Given the description of an element on the screen output the (x, y) to click on. 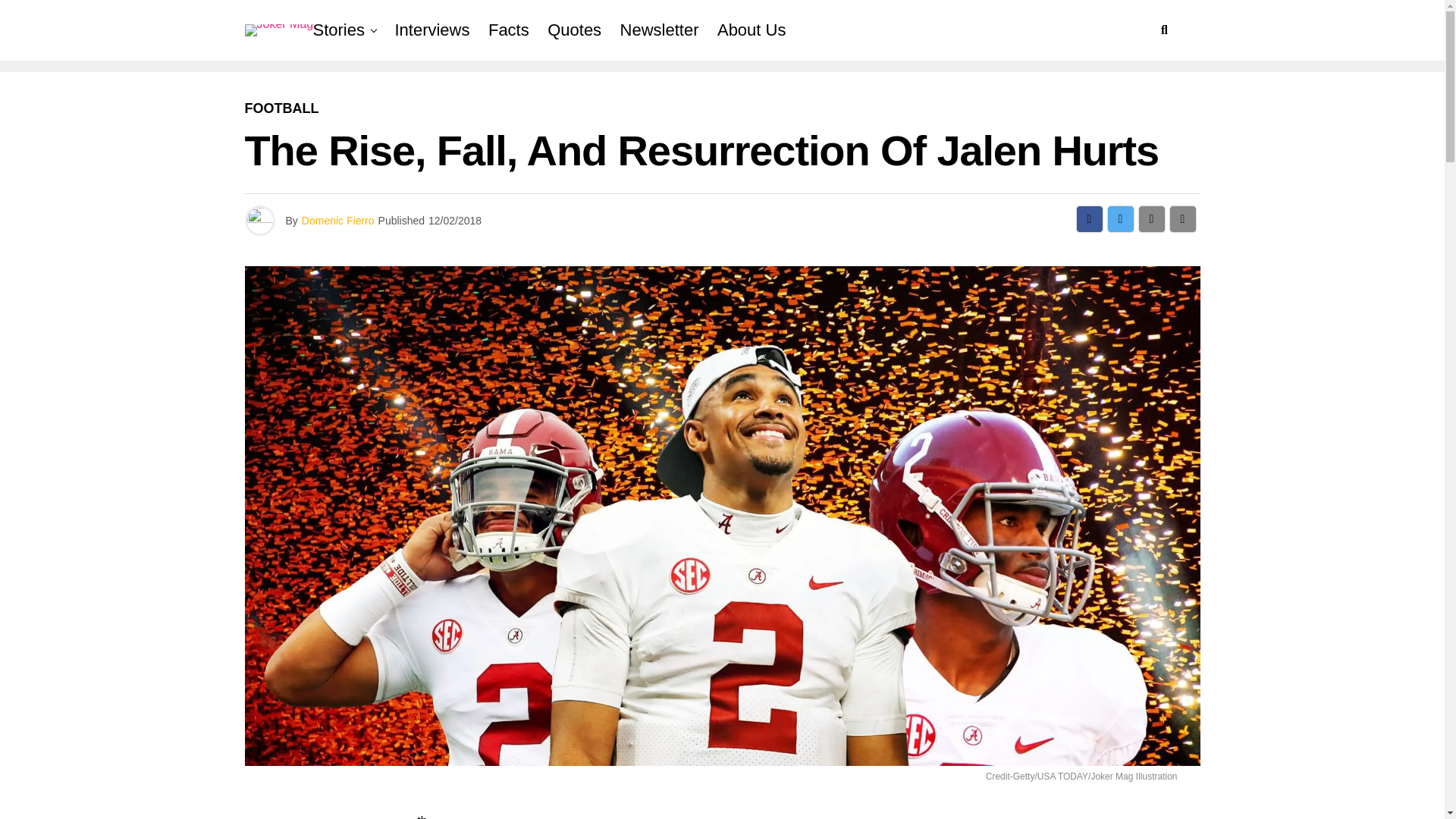
Facts (508, 30)
Stories (342, 30)
Share on Facebook (1088, 218)
Interviews (432, 30)
Newsletter (659, 30)
Tweet This Post (1120, 218)
Domenic Fierro (337, 220)
QB Jalen Hurts (619, 818)
Quotes (574, 30)
FOOTBALL (281, 108)
Posts by Domenic Fierro (337, 220)
About Us (751, 30)
